Given the description of an element on the screen output the (x, y) to click on. 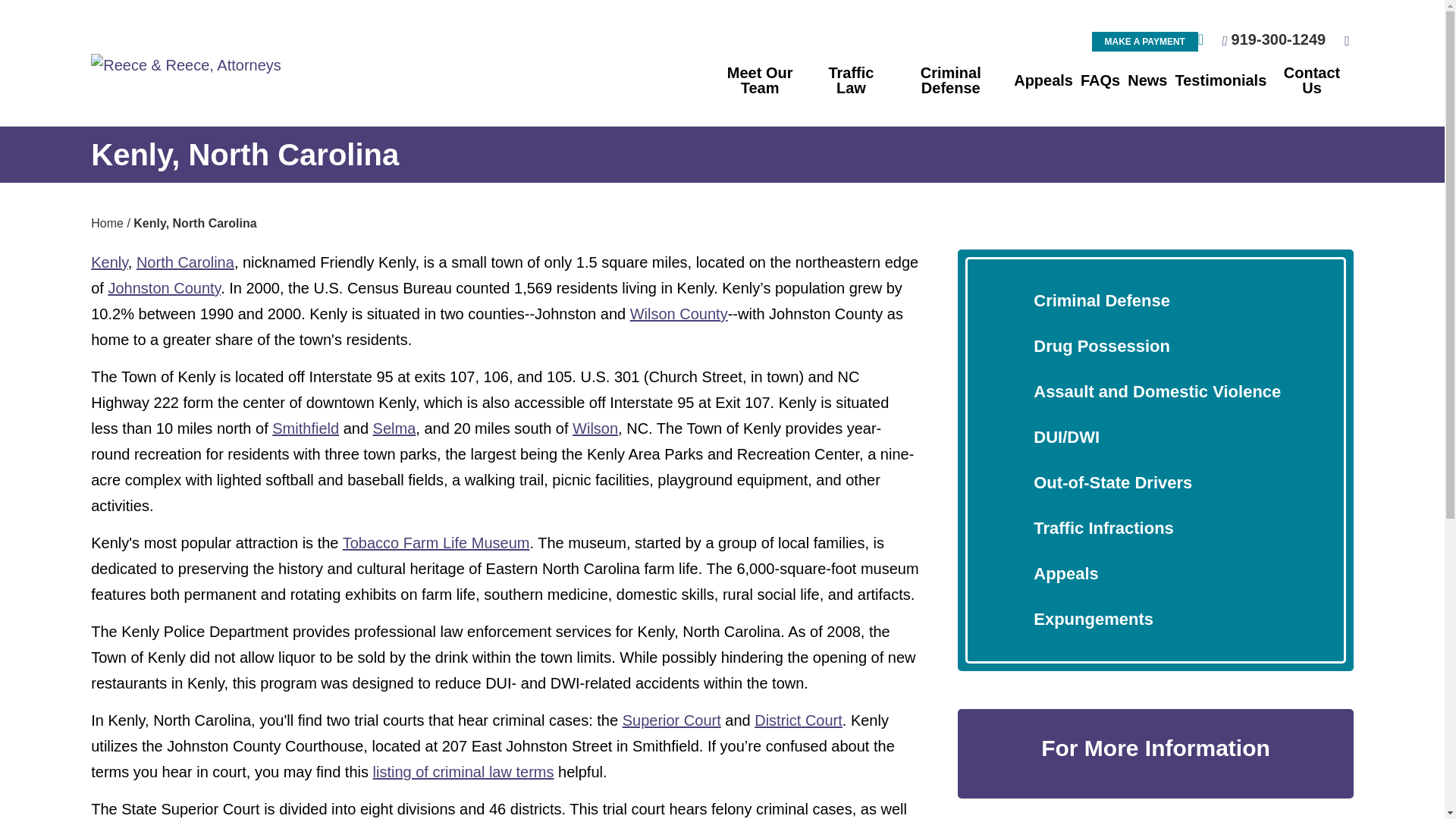
Read more about Traffic Infractions (1103, 527)
Read more about Criminal Defense (1101, 300)
MAKE A PAYMENT (1145, 41)
Read more about Out-of-State Drivers (1112, 482)
Read more about Assault and Domestic Violence (1157, 391)
Read more about Drug Possession (1101, 345)
919-300-1249 (1278, 39)
Meet Our Team (759, 80)
Read more about Expungements (1093, 618)
Read more about Appeals (1066, 573)
